Given the description of an element on the screen output the (x, y) to click on. 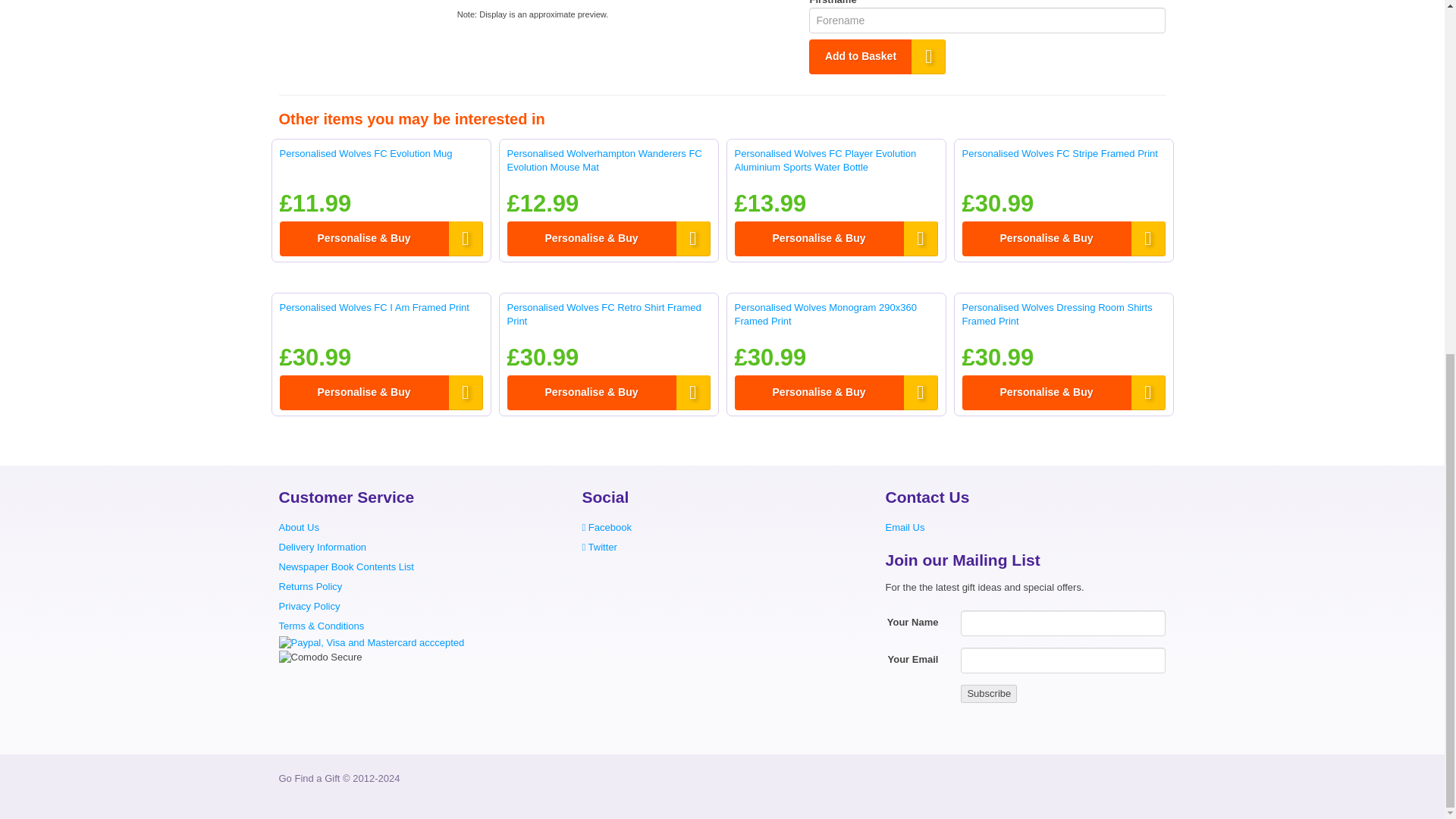
Subscribe (988, 693)
